Given the description of an element on the screen output the (x, y) to click on. 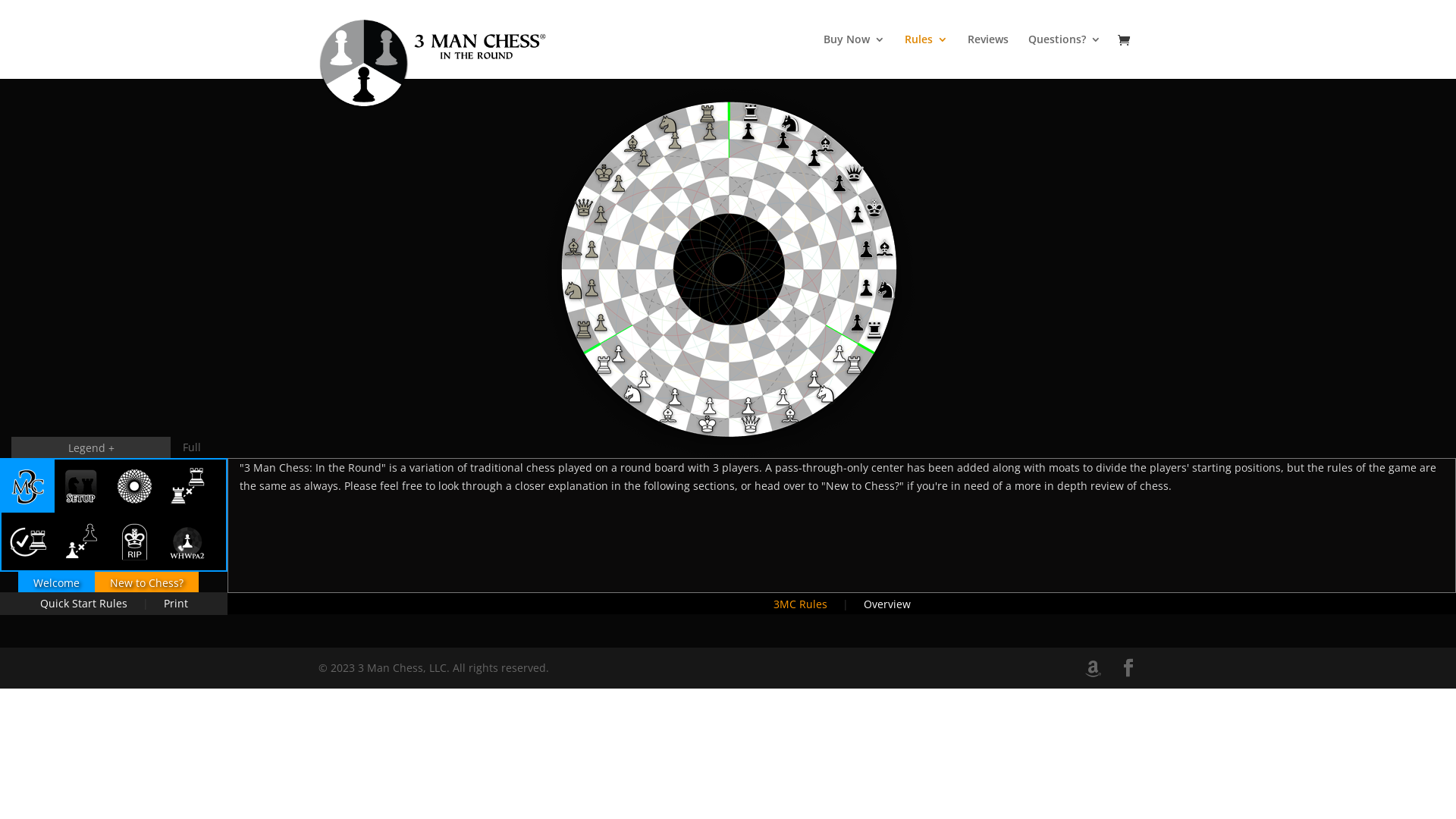
Setup Element type: hover (80, 485)
Reviews Element type: text (987, 56)
Checkmate Element type: hover (133, 540)
Moat Bridging Element type: hover (27, 540)
3MC Notation Element type: hover (186, 540)
Moats Element type: hover (186, 485)
Questions? Element type: text (1064, 56)
Creeks Element type: hover (80, 540)
Rules Element type: text (925, 56)
Buy Now Element type: text (853, 56)
Quick Start Rules Element type: text (82, 603)
Legend + Element type: text (90, 447)
New to Chess? Element type: text (145, 582)
The Center Element type: hover (133, 485)
Welcome Element type: text (56, 582)
Full Element type: text (191, 447)
Overview Element type: hover (27, 485)
Print Element type: text (175, 603)
